Given the description of an element on the screen output the (x, y) to click on. 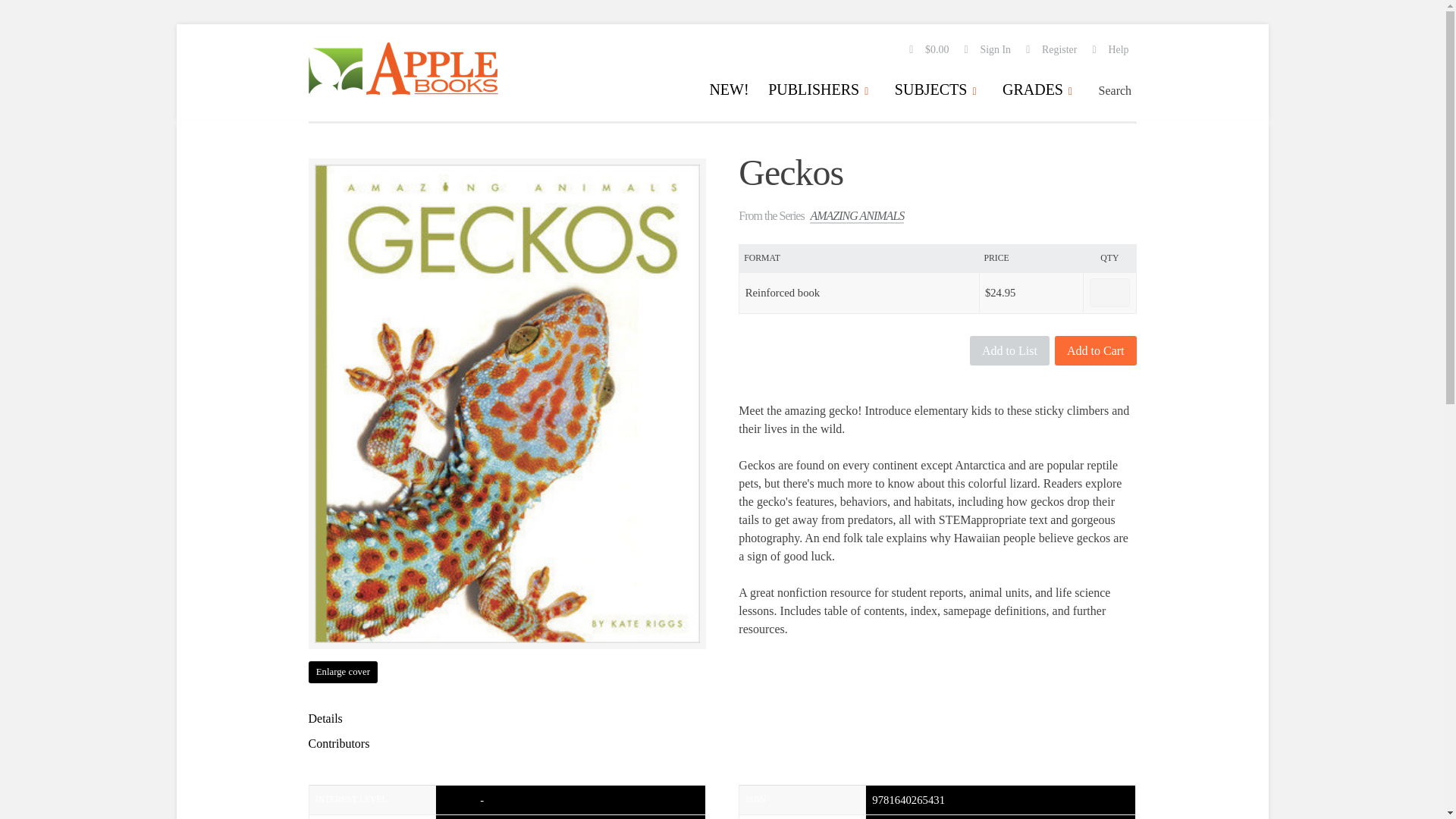
Sign In (986, 49)
Register (1051, 49)
Add to Cart (1095, 350)
SUBJECTS (939, 92)
You must login to add items to your list (1009, 350)
Geckos: Cover (342, 671)
Help (1111, 49)
PUBLISHERS (821, 92)
NEW! (728, 92)
